Given the description of an element on the screen output the (x, y) to click on. 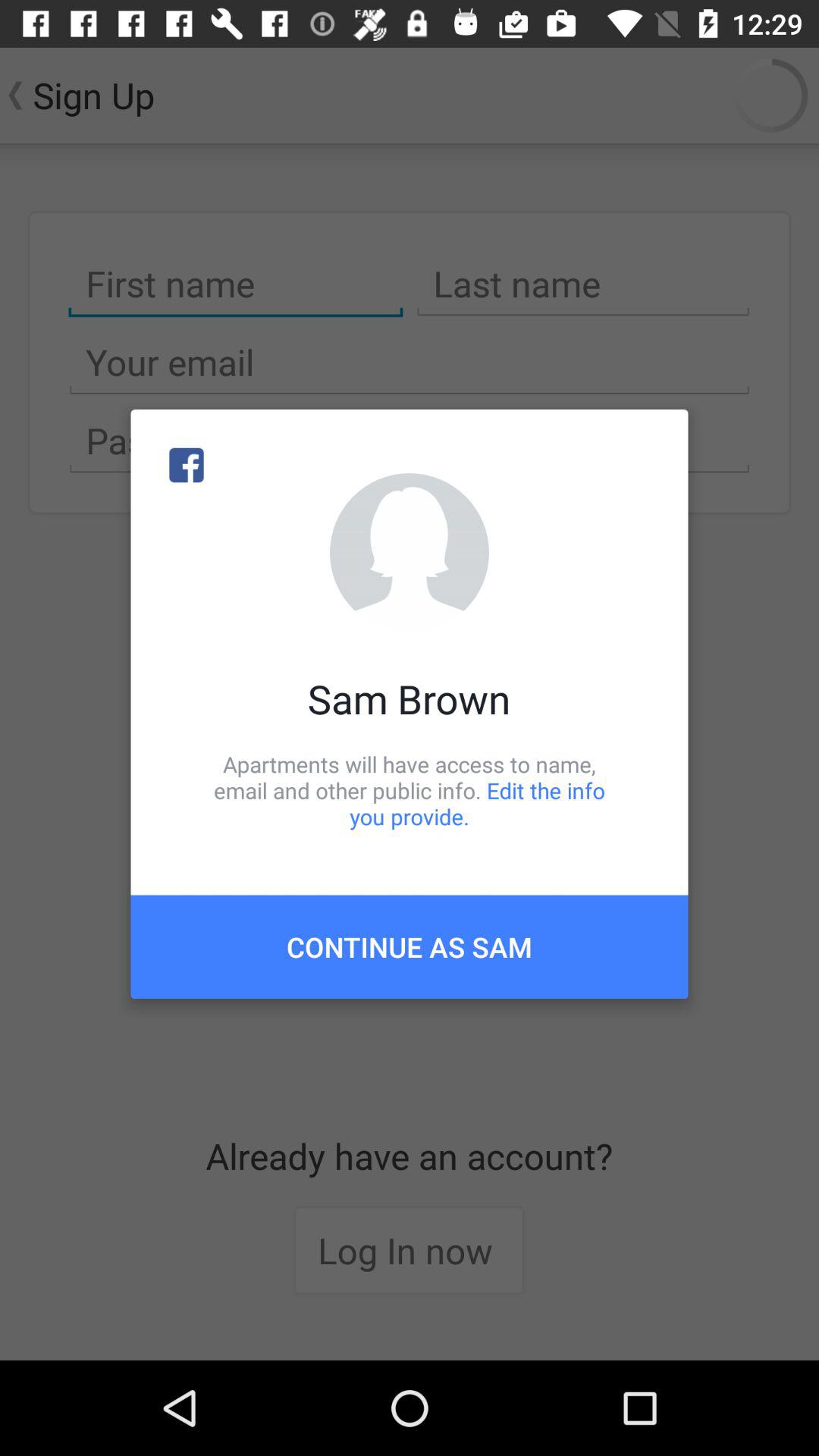
select icon below apartments will have (409, 946)
